Given the description of an element on the screen output the (x, y) to click on. 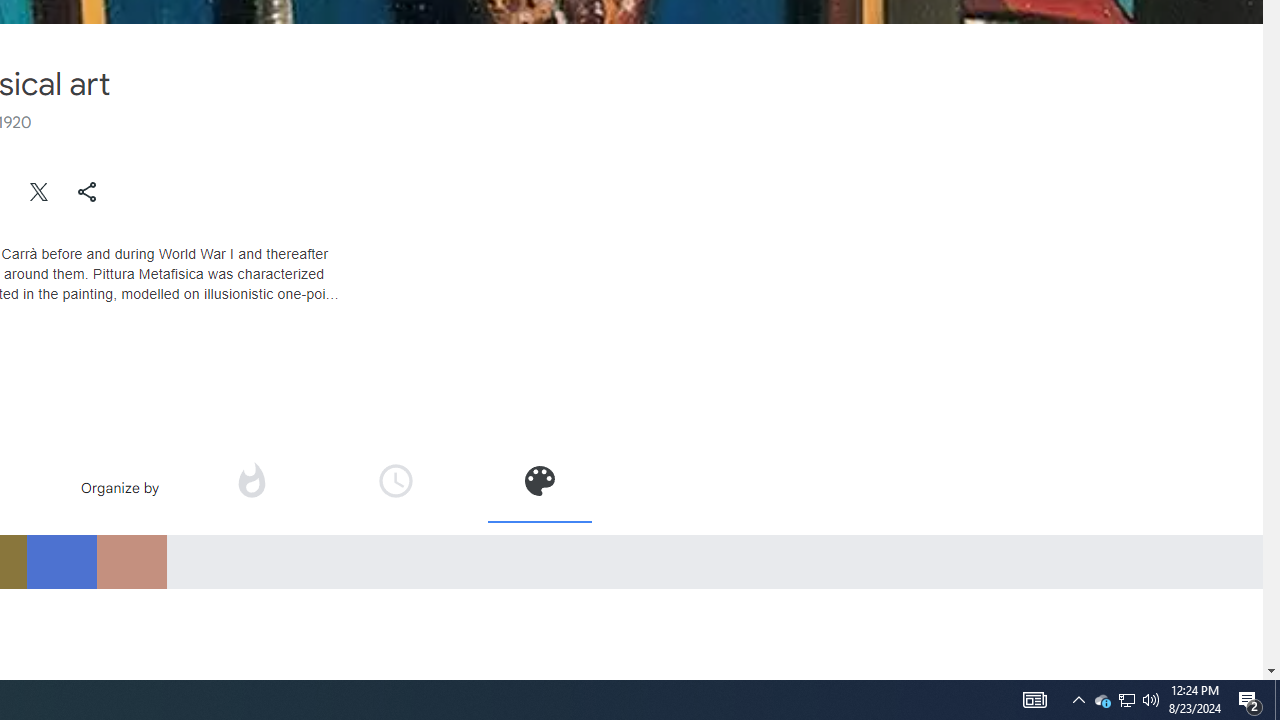
RGB_C4907F (131, 561)
Organize by color (538, 487)
Organize by time (395, 487)
Organize by color (539, 480)
Share "Metaphysical art" (87, 191)
RGB_4D72D0 (61, 561)
Organize by popularity (251, 487)
Share on Twitter (39, 191)
Organize by time (395, 480)
Organize by popularity (250, 480)
